Given the description of an element on the screen output the (x, y) to click on. 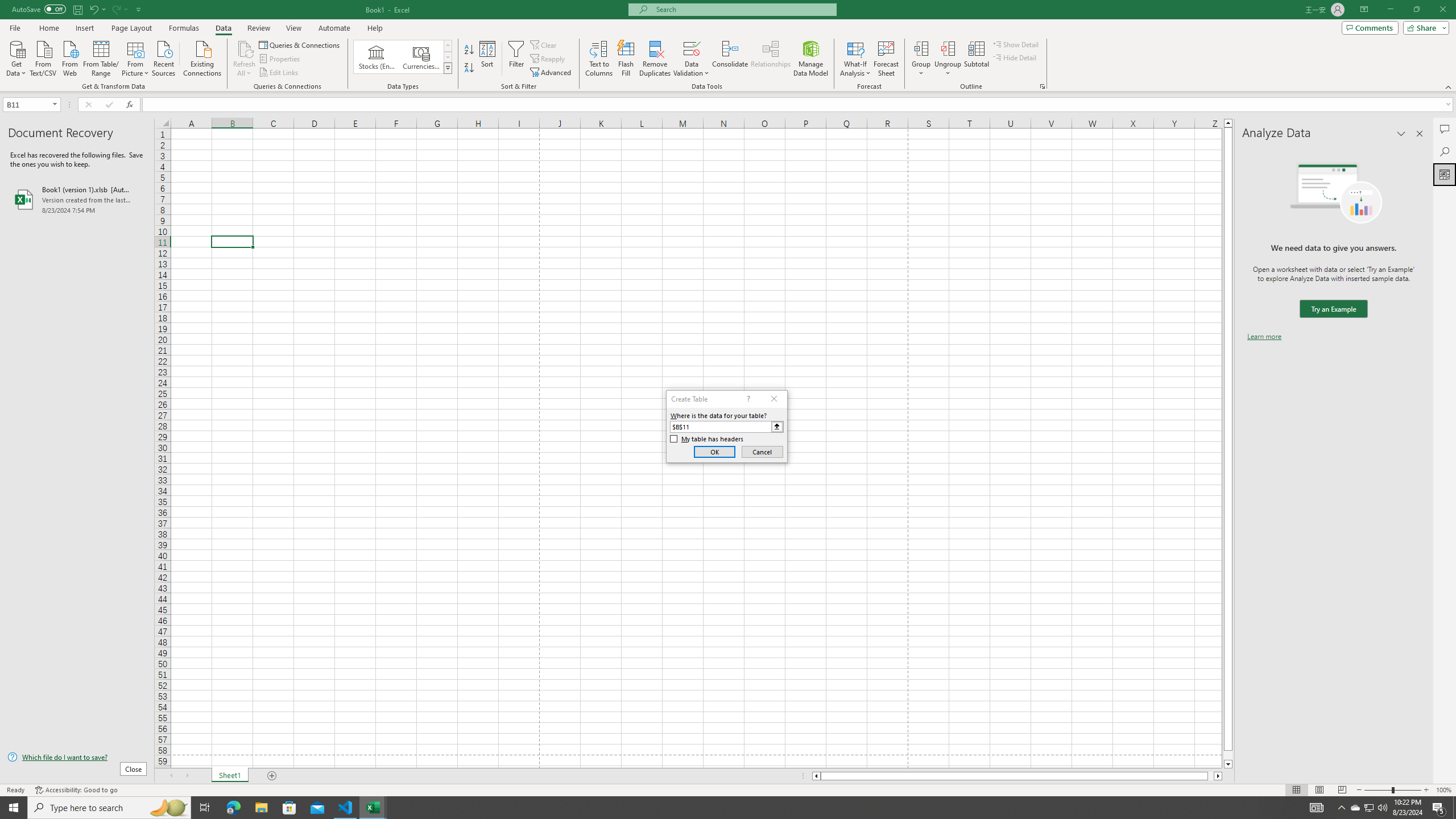
Book1 (version 1).xlsb  [AutoRecovered] (77, 199)
Learn more (1264, 336)
Remove Duplicates (654, 58)
